Given the description of an element on the screen output the (x, y) to click on. 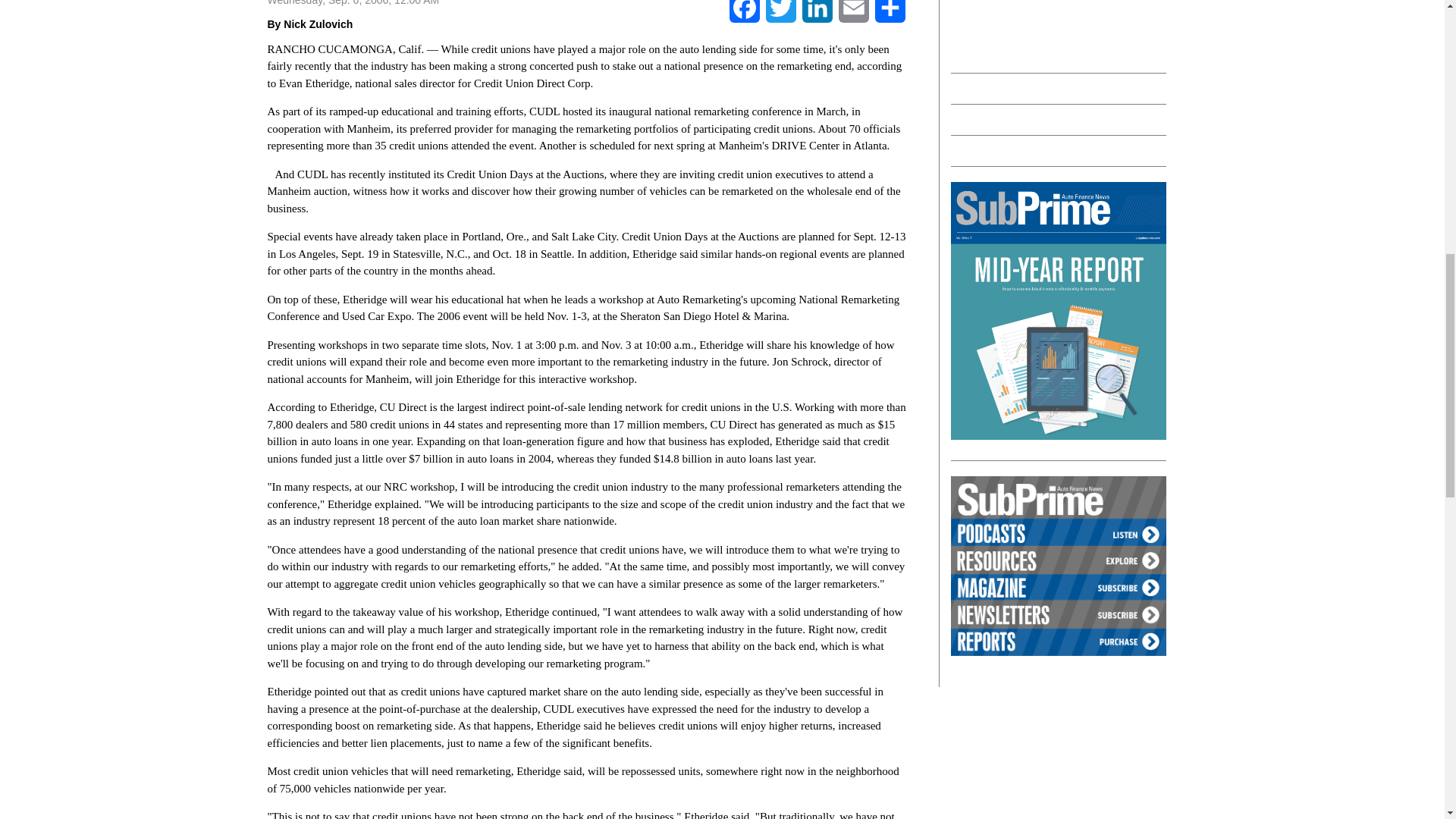
Facebook (744, 12)
Email (853, 12)
3rd party ad content (1063, 28)
LinkedIn (817, 12)
Twitter (780, 12)
